Given the description of an element on the screen output the (x, y) to click on. 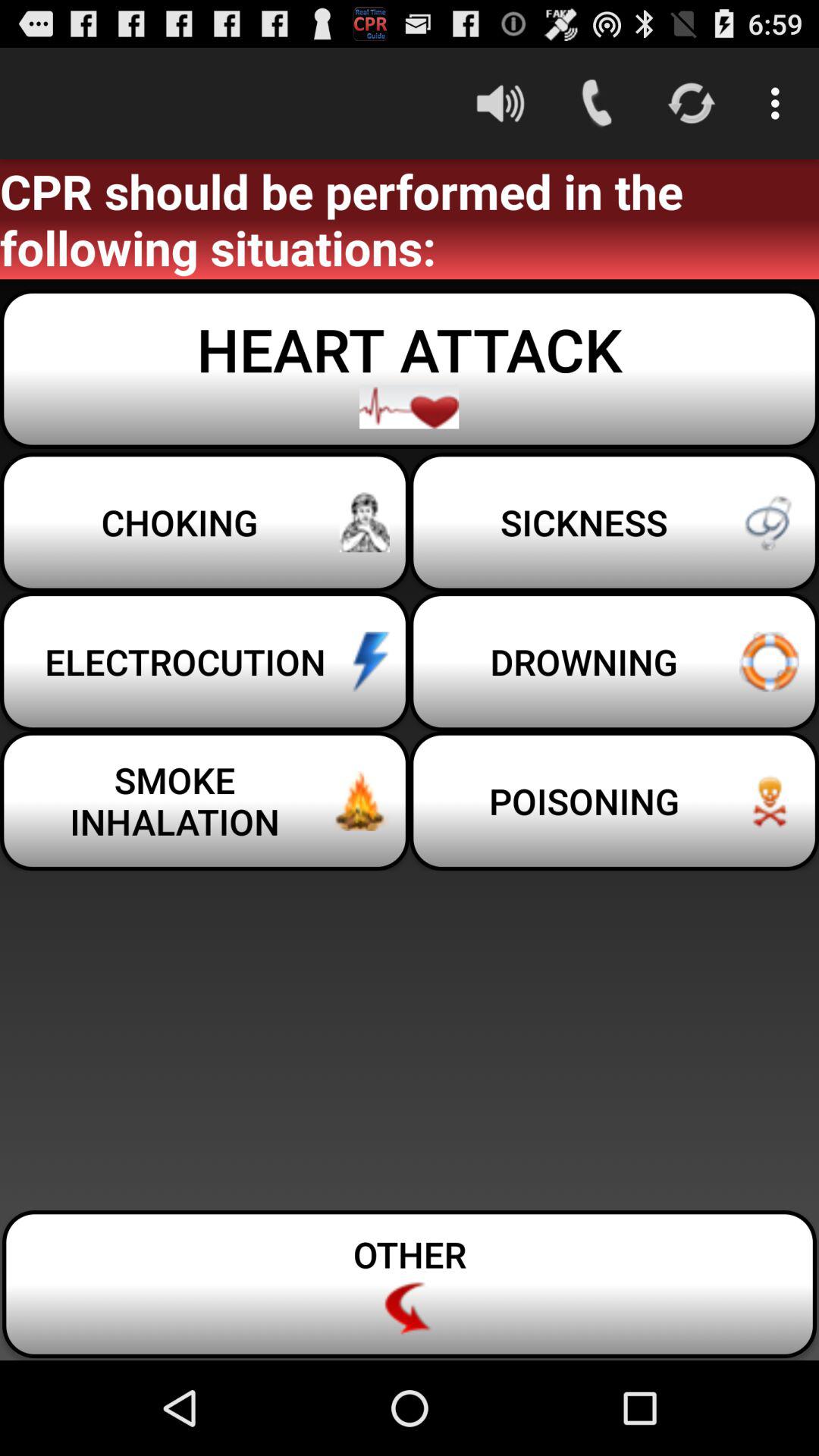
choose item below choking icon (614, 661)
